Given the description of an element on the screen output the (x, y) to click on. 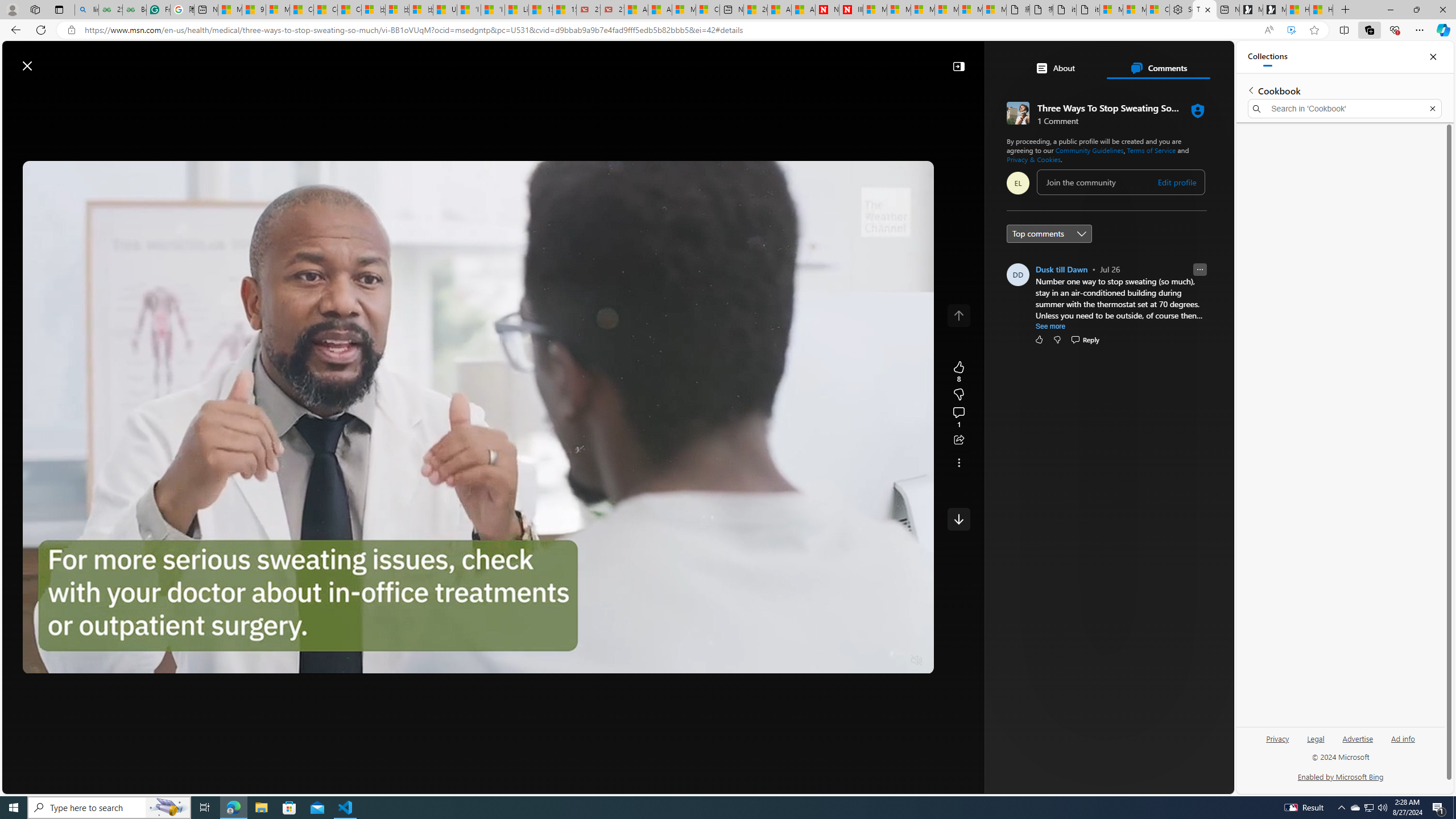
Three Ways To Stop Sweating So Much (1204, 9)
Profile Picture (1017, 274)
Reuters (1060, 316)
Back to list of collections (1250, 90)
Sort comments by (1049, 233)
20 Ways to Boost Your Protein Intake at Every Meal (754, 9)
